Given the description of an element on the screen output the (x, y) to click on. 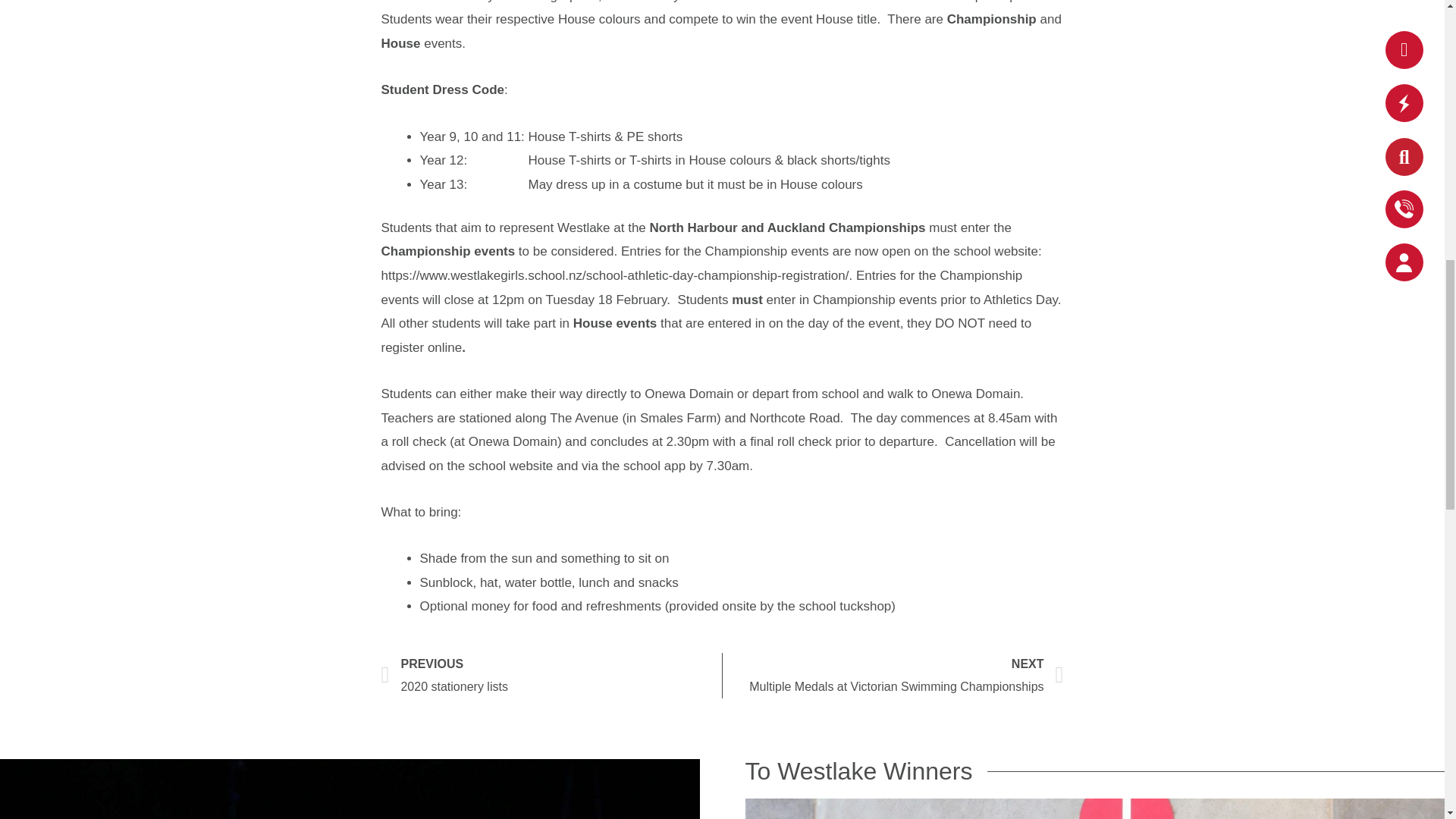
To Westlake Winners (551, 674)
